Given the description of an element on the screen output the (x, y) to click on. 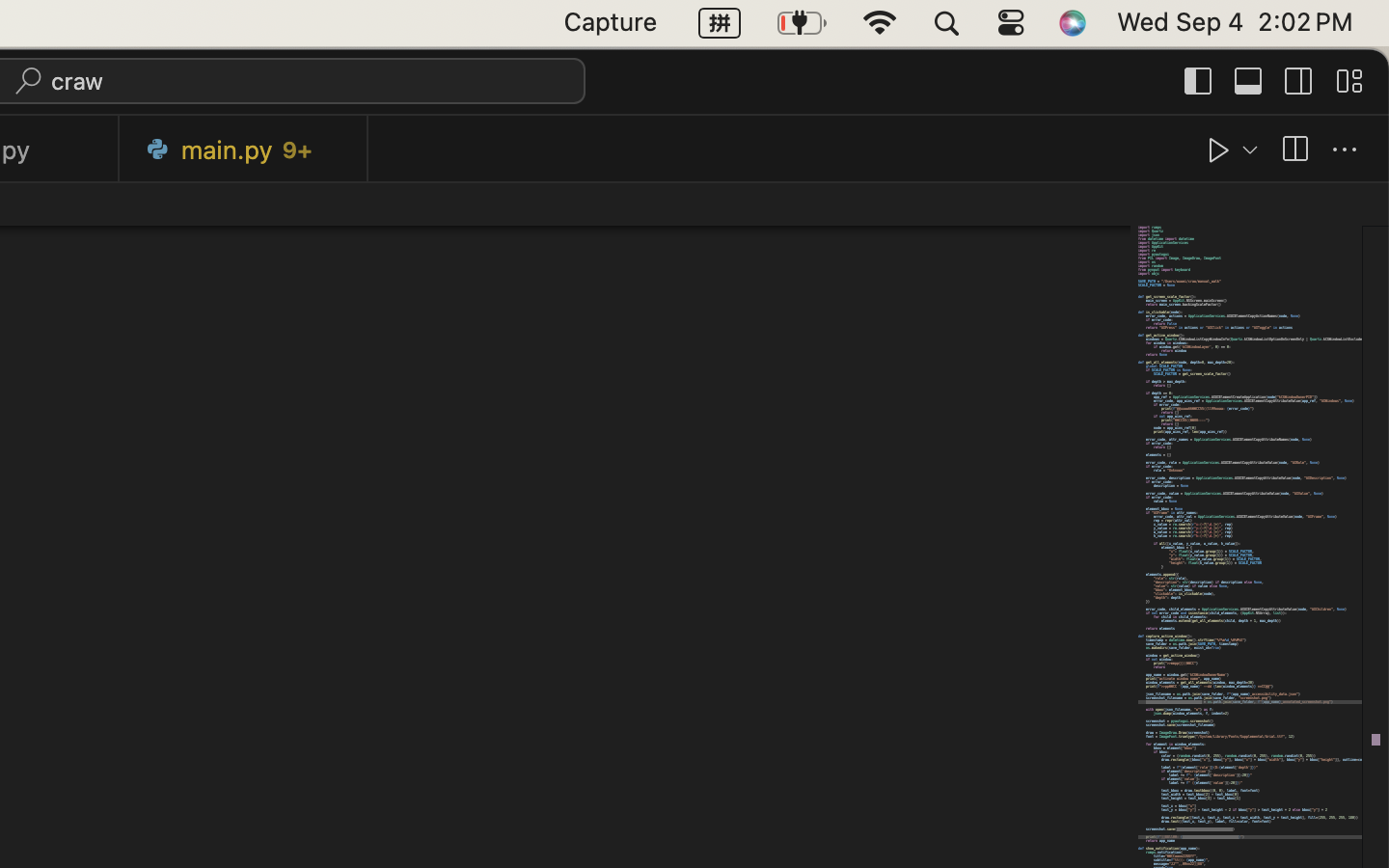
0 main.py   9+ Element type: AXRadioButton (243, 149)
 Element type: AXButton (1349, 80)
 Element type: AXStaticText (1344, 150)
 Element type: AXButton (1294, 150)
